Given the description of an element on the screen output the (x, y) to click on. 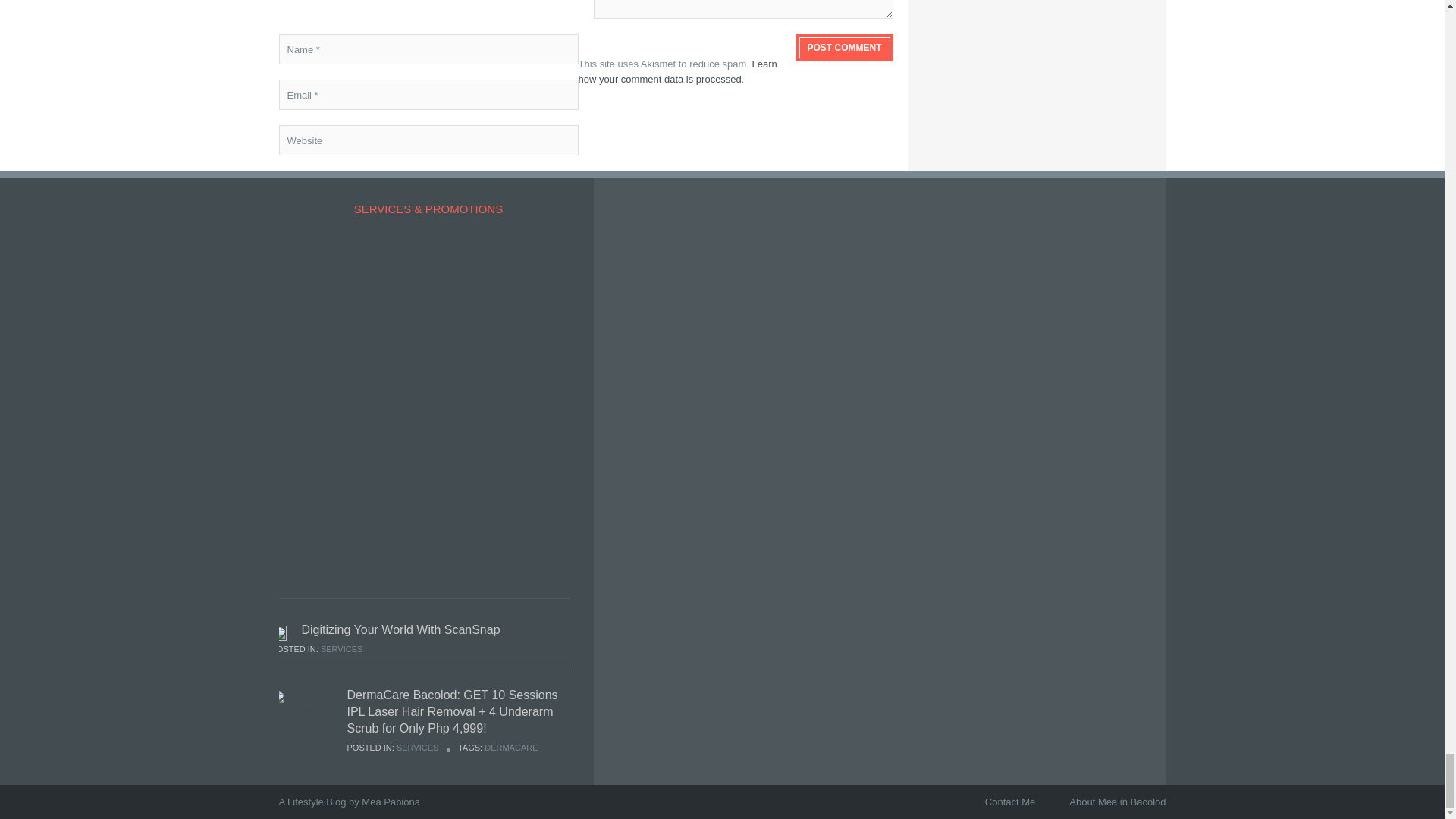
Post Comment (844, 47)
Website (428, 140)
